Given the description of an element on the screen output the (x, y) to click on. 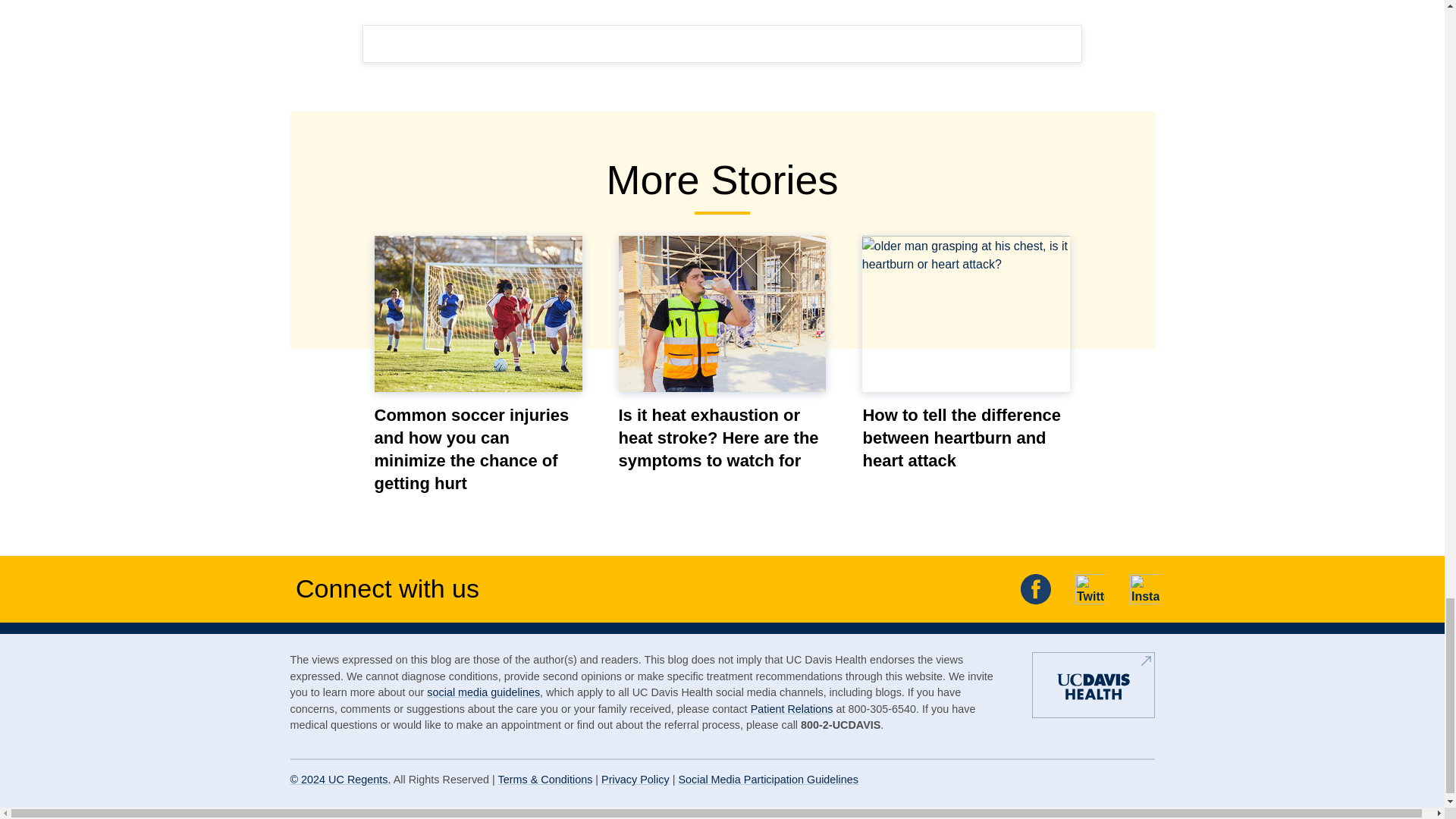
go to article (478, 313)
go to article (722, 313)
go to article (965, 313)
Visit UC Davis Health's Instagram (1144, 589)
Visit UC Davis Health's Facebook (1035, 589)
Visit UC Davis Health's Twitter (1090, 589)
UC Davis Health (1093, 691)
